Given the description of an element on the screen output the (x, y) to click on. 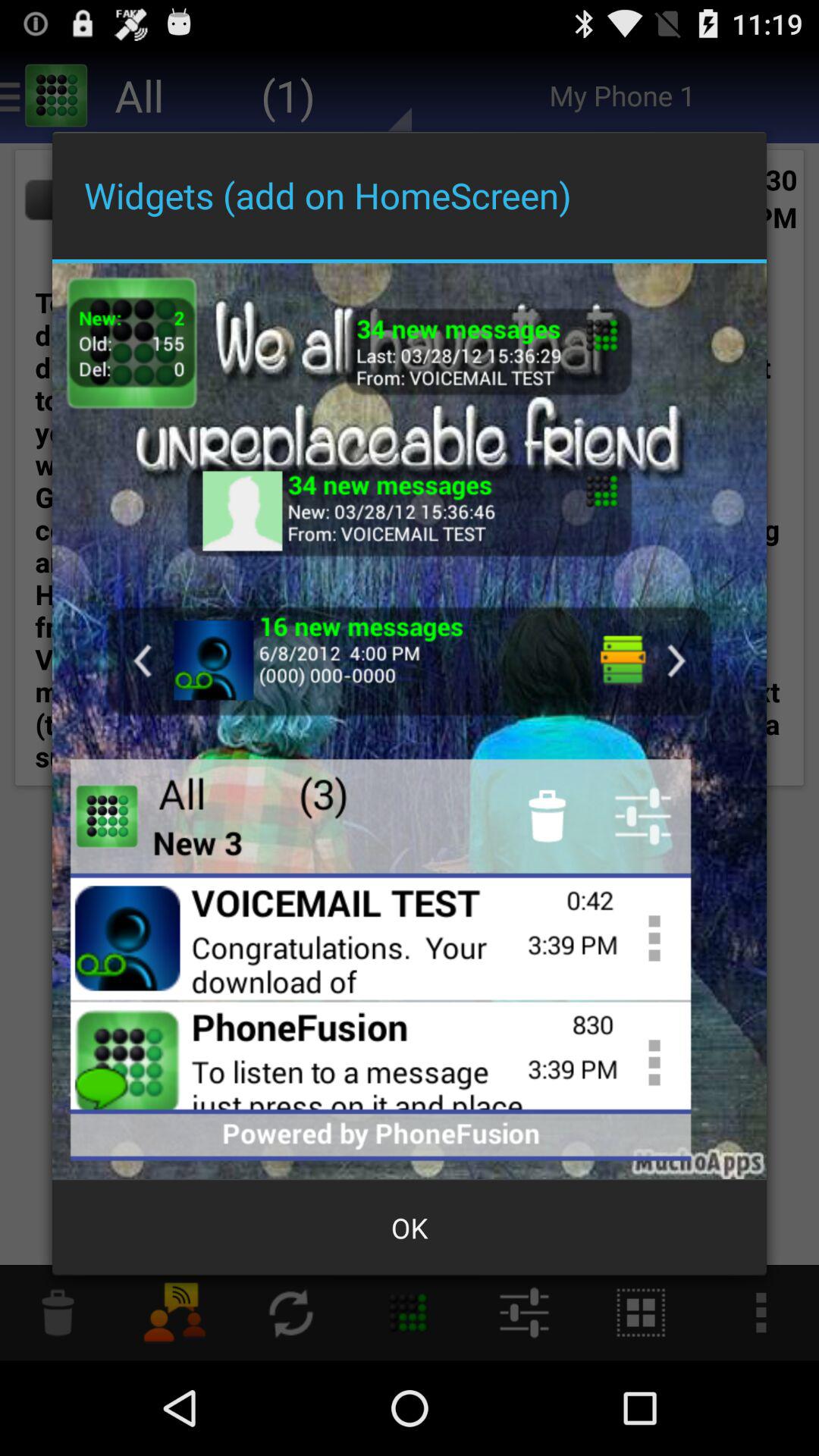
look at messages (409, 661)
